Given the description of an element on the screen output the (x, y) to click on. 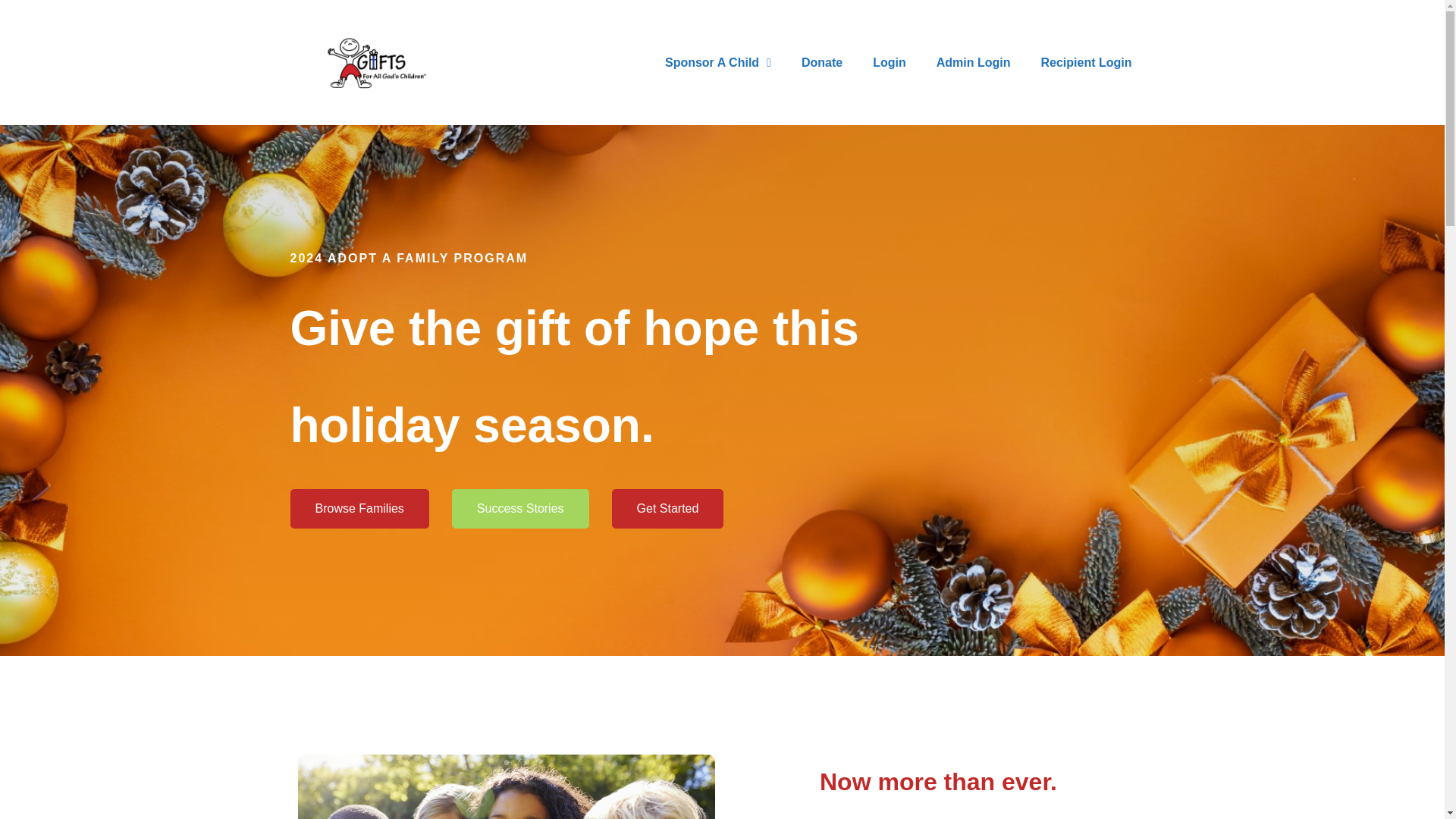
Login (889, 62)
Recipient Login (1086, 62)
Donate (821, 62)
Sponsor A Child (717, 62)
Success Stories (520, 508)
Admin Login (973, 62)
Browse Families (358, 508)
Get Started (667, 508)
